Given the description of an element on the screen output the (x, y) to click on. 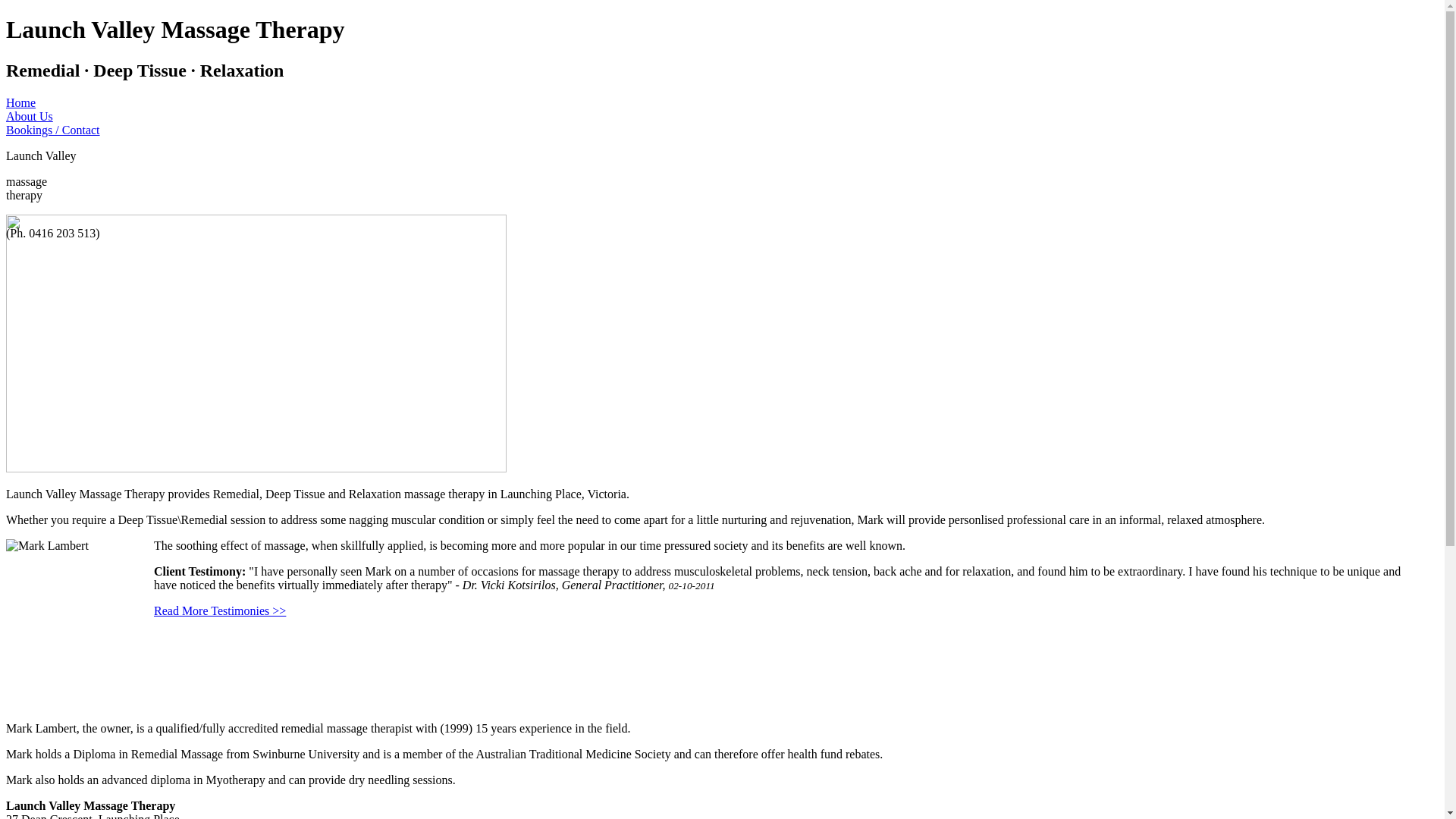
Read More Testimonies >> Element type: text (219, 610)
Bookings / Contact Element type: text (53, 129)
Home Element type: text (20, 102)
Mark Lambert Element type: hover (79, 630)
About Us Element type: text (29, 115)
